Given the description of an element on the screen output the (x, y) to click on. 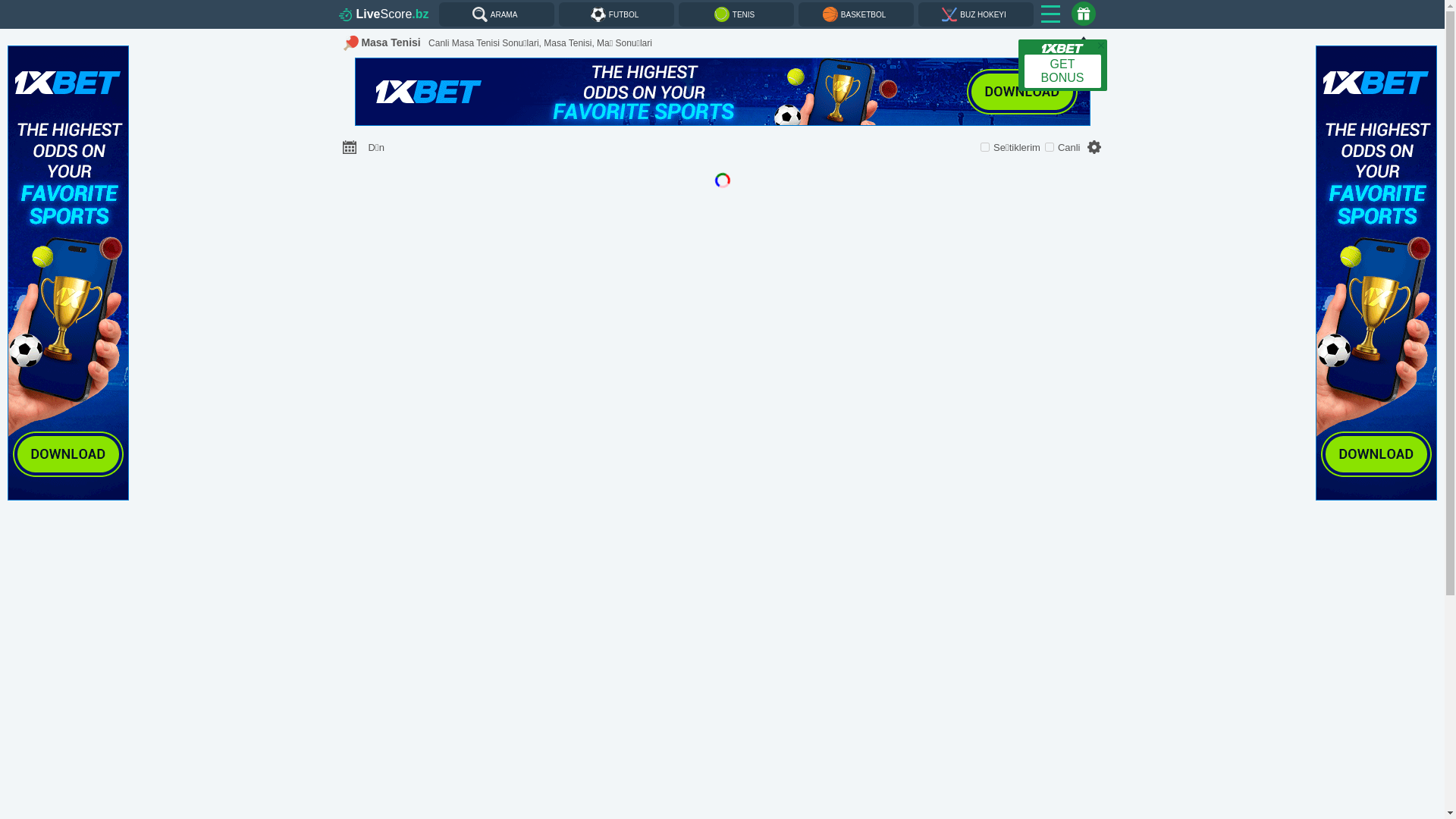
Live
Score
.bz Element type: text (384, 14)
TENIS Element type: text (735, 14)
Click! Element type: hover (1376, 274)
Click! Element type: hover (67, 274)
GET BONUS Element type: text (1061, 64)
Click! Element type: hover (721, 92)
BASKETBOL Element type: text (855, 14)
BUZ HOKEYI Element type: text (975, 14)
FUTBOL Element type: text (616, 14)
